Given the description of an element on the screen output the (x, y) to click on. 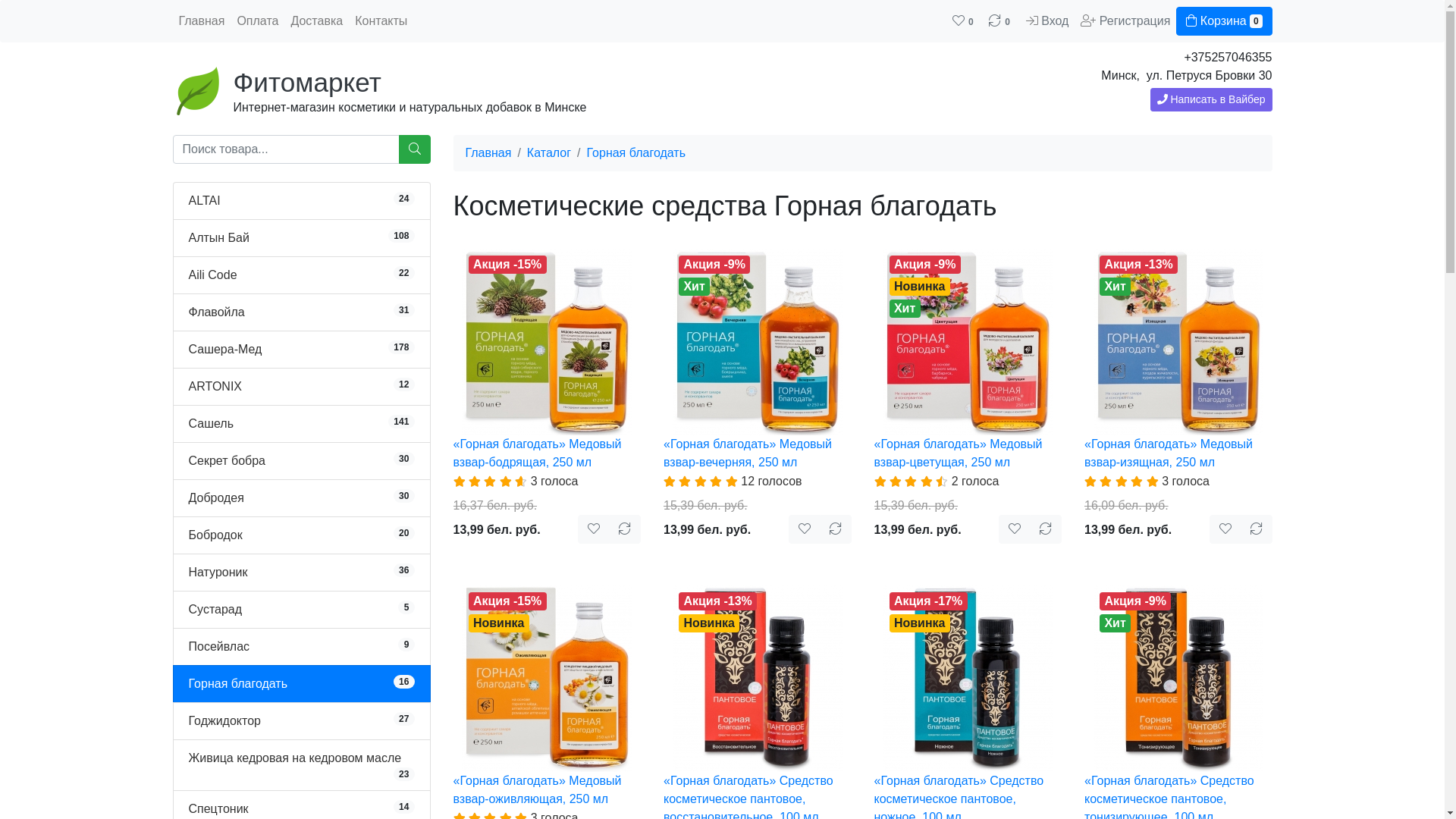
Aili Code
22 Element type: text (212, 274)
ALTAI
24 Element type: text (203, 200)
0 Element type: text (964, 20)
ARTONIX
12 Element type: text (214, 385)
0 Element type: text (1000, 20)
